Given the description of an element on the screen output the (x, y) to click on. 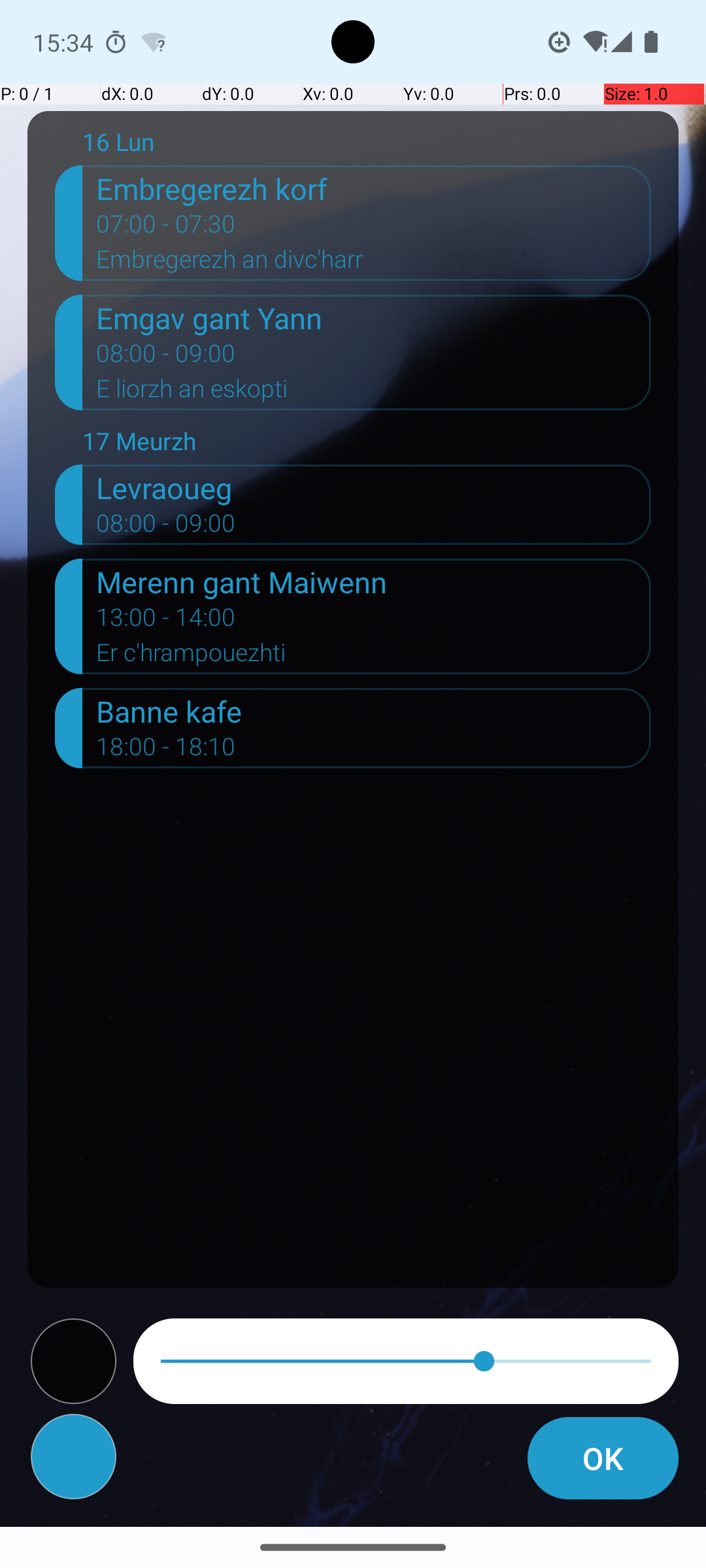
16 Lun Element type: android.widget.TextView (366, 144)
17 Meurzh Element type: android.widget.TextView (366, 444)
Embregerezh korf Element type: android.widget.TextView (373, 187)
07:00 - 07:30 Element type: android.widget.TextView (165, 227)
Embregerezh an divc'harr Element type: android.widget.TextView (373, 262)
Emgav gant Yann Element type: android.widget.TextView (373, 316)
08:00 - 09:00 Element type: android.widget.TextView (165, 357)
E liorzh an eskopti Element type: android.widget.TextView (373, 392)
Levraoueg Element type: android.widget.TextView (373, 486)
Merenn gant Maiwenn Element type: android.widget.TextView (373, 580)
13:00 - 14:00 Element type: android.widget.TextView (165, 620)
Er c'hrampouezhti Element type: android.widget.TextView (373, 656)
Banne kafe Element type: android.widget.TextView (373, 710)
18:00 - 18:10 Element type: android.widget.TextView (165, 750)
